Given the description of an element on the screen output the (x, y) to click on. 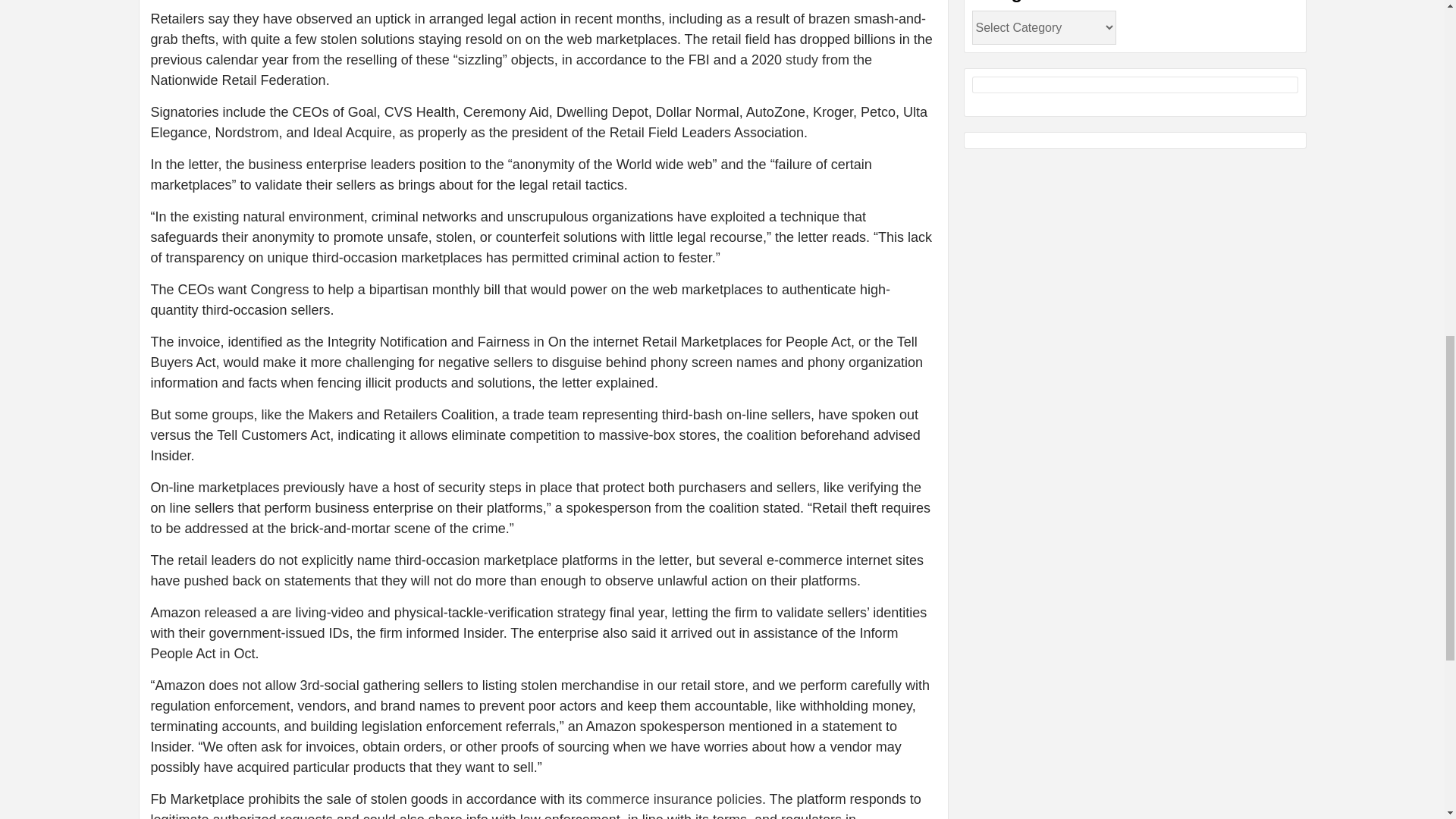
study (802, 59)
commerce insurance policies (673, 798)
